Given the description of an element on the screen output the (x, y) to click on. 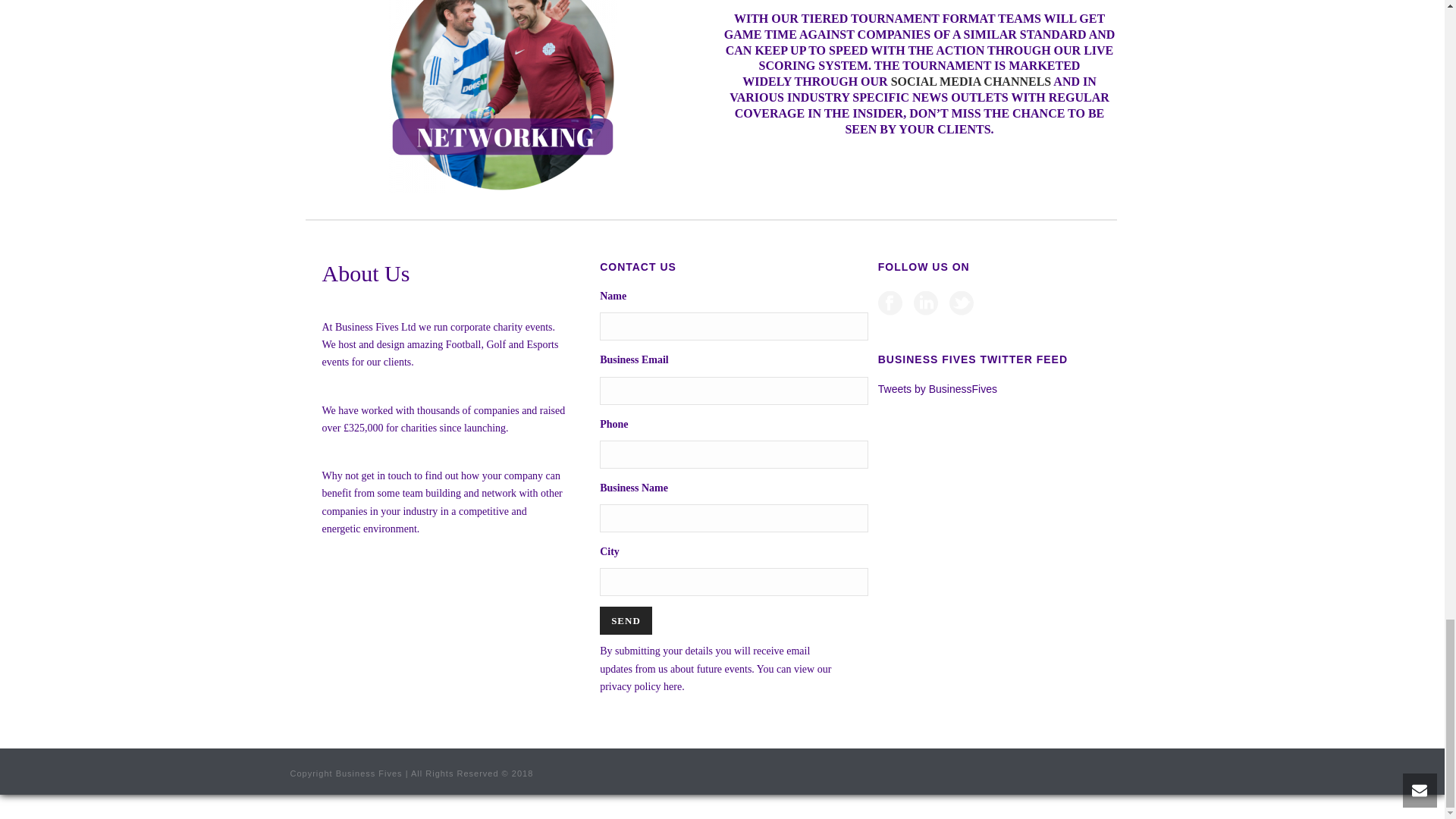
Follow Us on linkedin (925, 303)
Follow Us on facebook (889, 303)
Send (625, 620)
Follow Us on twitter (961, 303)
